Given the description of an element on the screen output the (x, y) to click on. 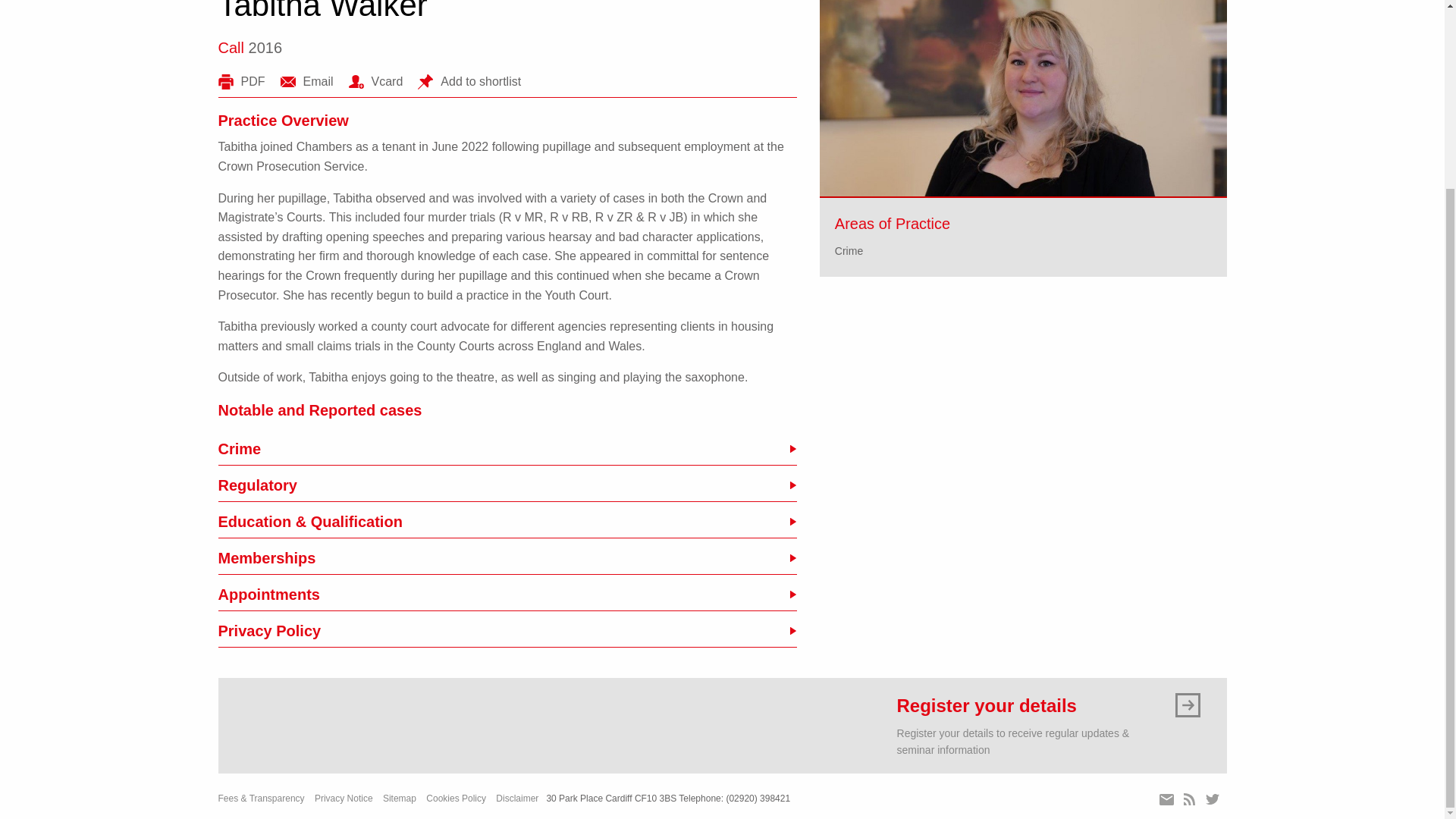
Vcard (376, 81)
Disclaimer (517, 798)
Email (307, 81)
Regulatory (507, 485)
PDF (241, 81)
Memberships (507, 558)
Appointments (507, 594)
Cookies Policy (456, 798)
Sitemap (399, 798)
Crime (848, 250)
